Given the description of an element on the screen output the (x, y) to click on. 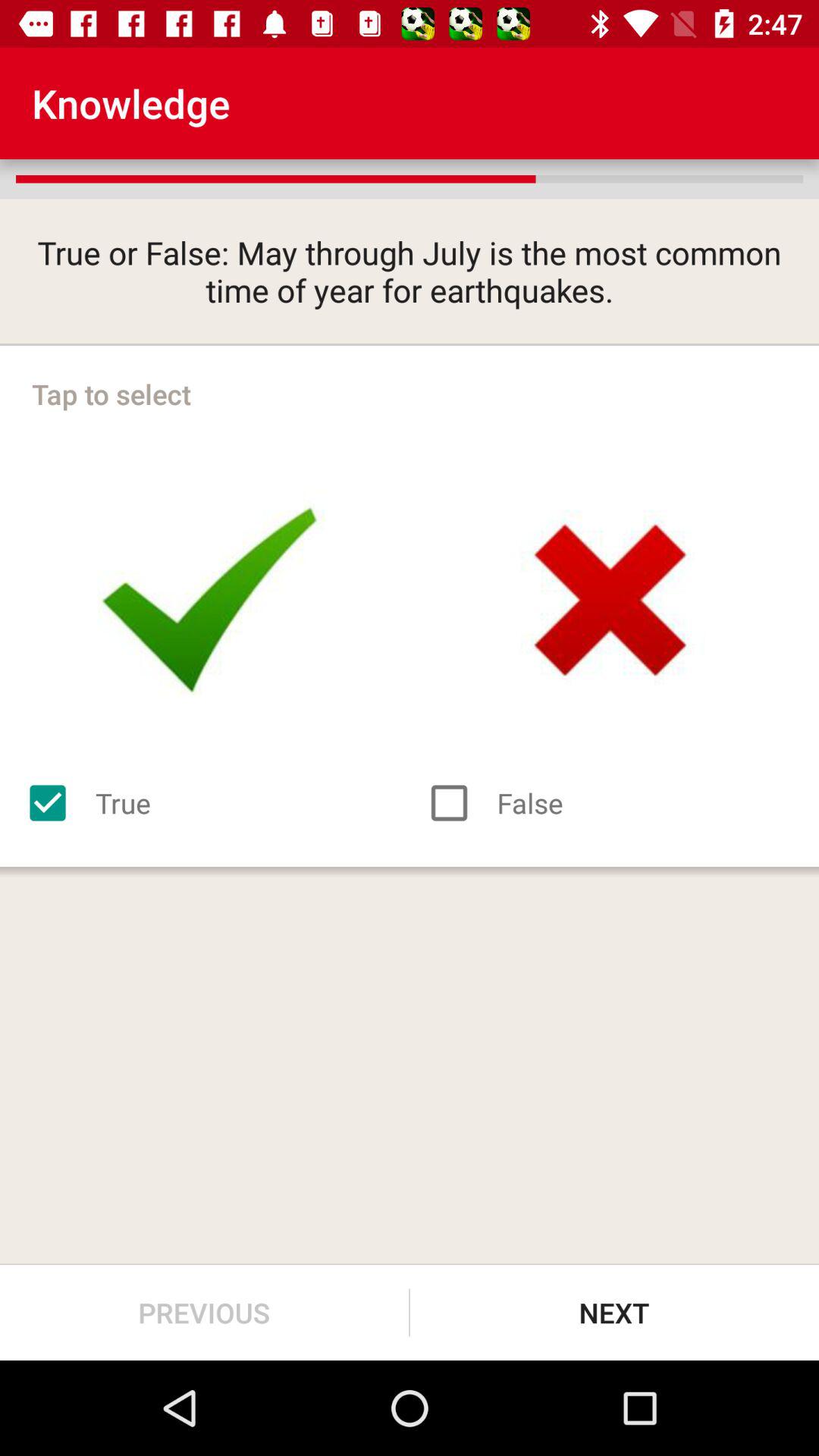
press the previous item (204, 1312)
